Given the description of an element on the screen output the (x, y) to click on. 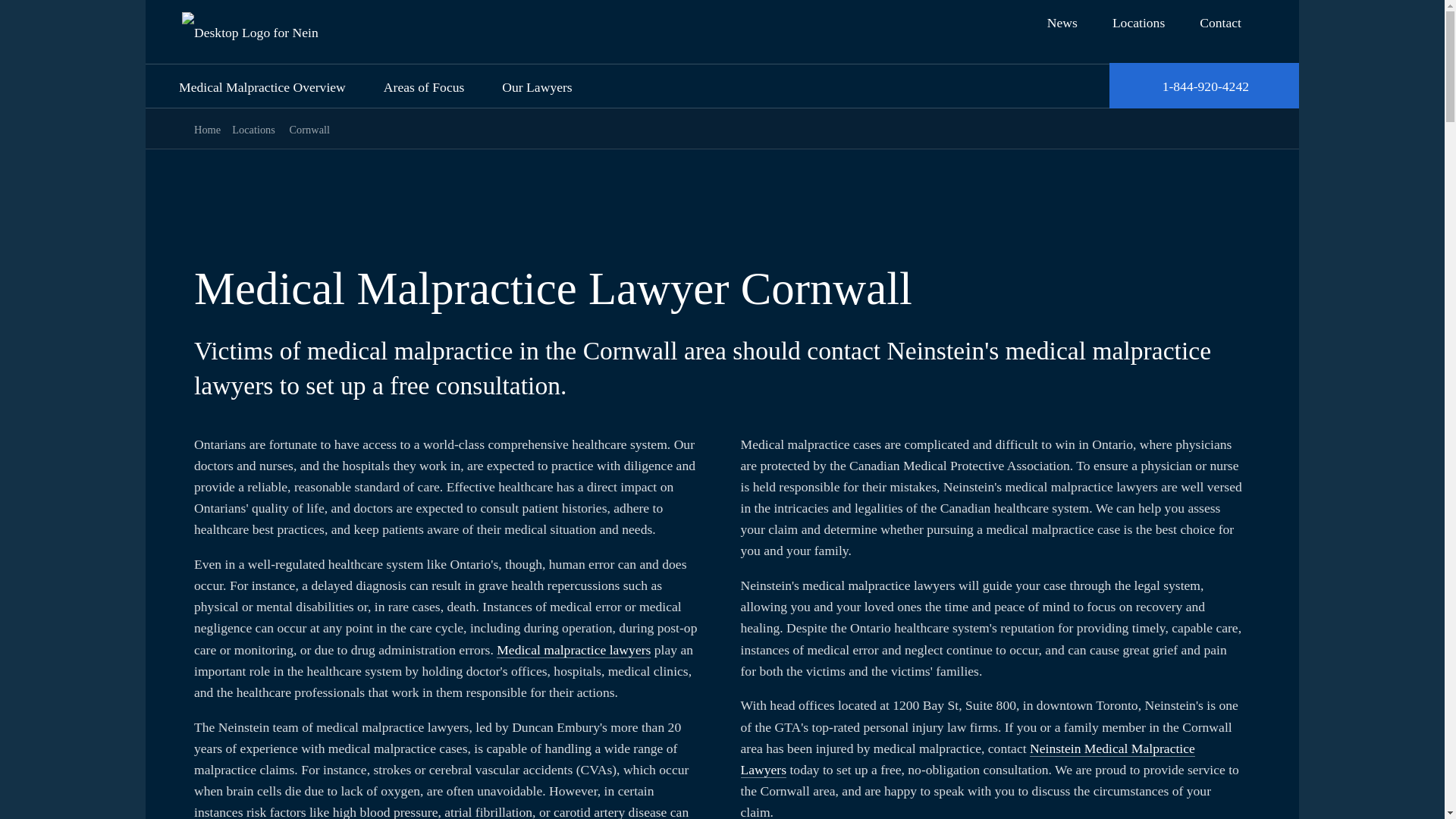
Medical Malpractice Overview (265, 86)
News (1058, 22)
Locations (253, 129)
Medical malpractice lawyers (573, 650)
Contact (1216, 22)
Areas of Focus (427, 86)
Locations (1134, 22)
Home (207, 129)
Our Lawyers (540, 86)
Neinstein Medical Malpractice Lawyers (966, 759)
